Given the description of an element on the screen output the (x, y) to click on. 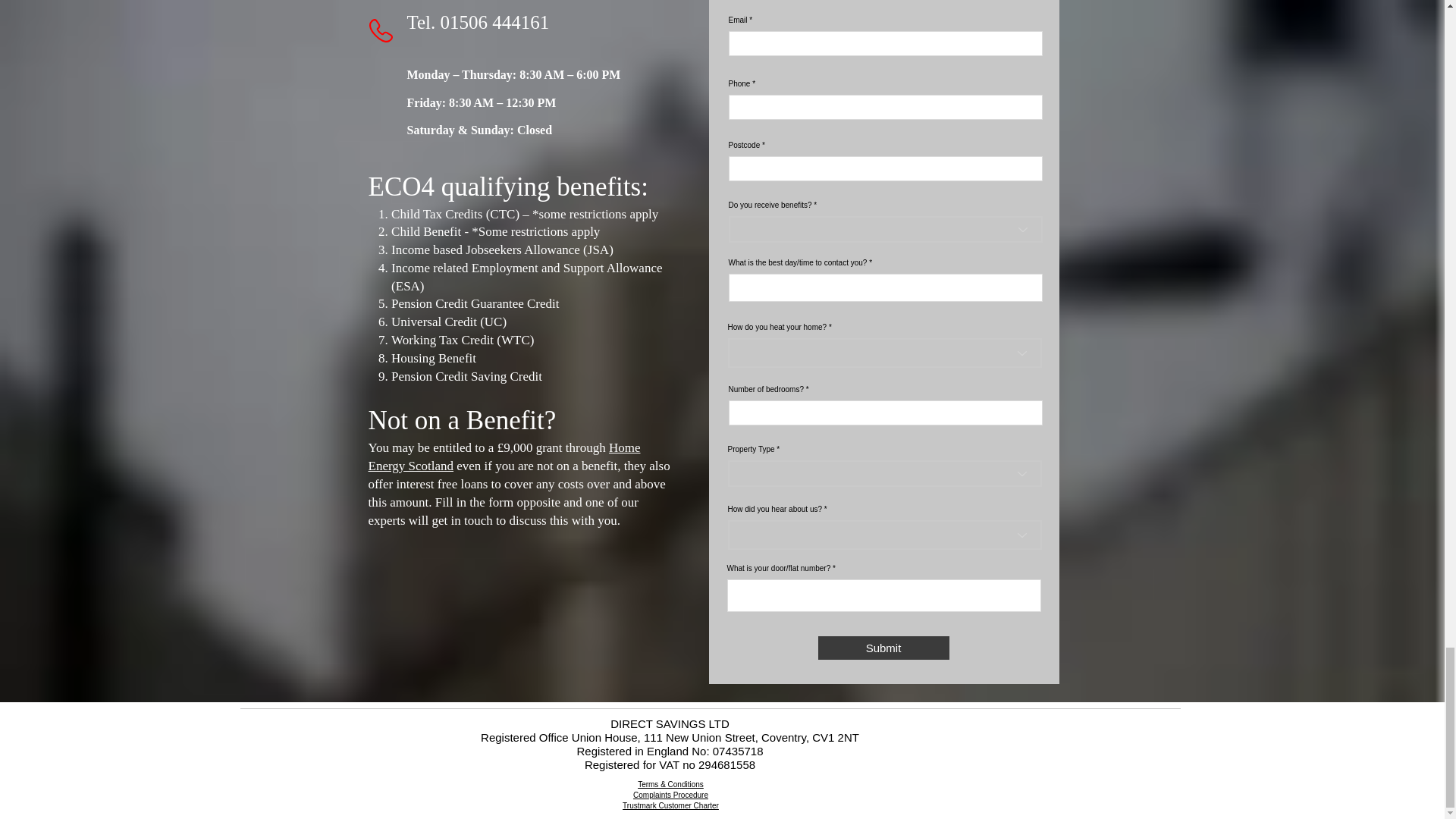
Home Energy Scotland (504, 456)
Complaints Procedure (670, 795)
Submit (882, 648)
Trustmark Customer Charter (671, 805)
